Given the description of an element on the screen output the (x, y) to click on. 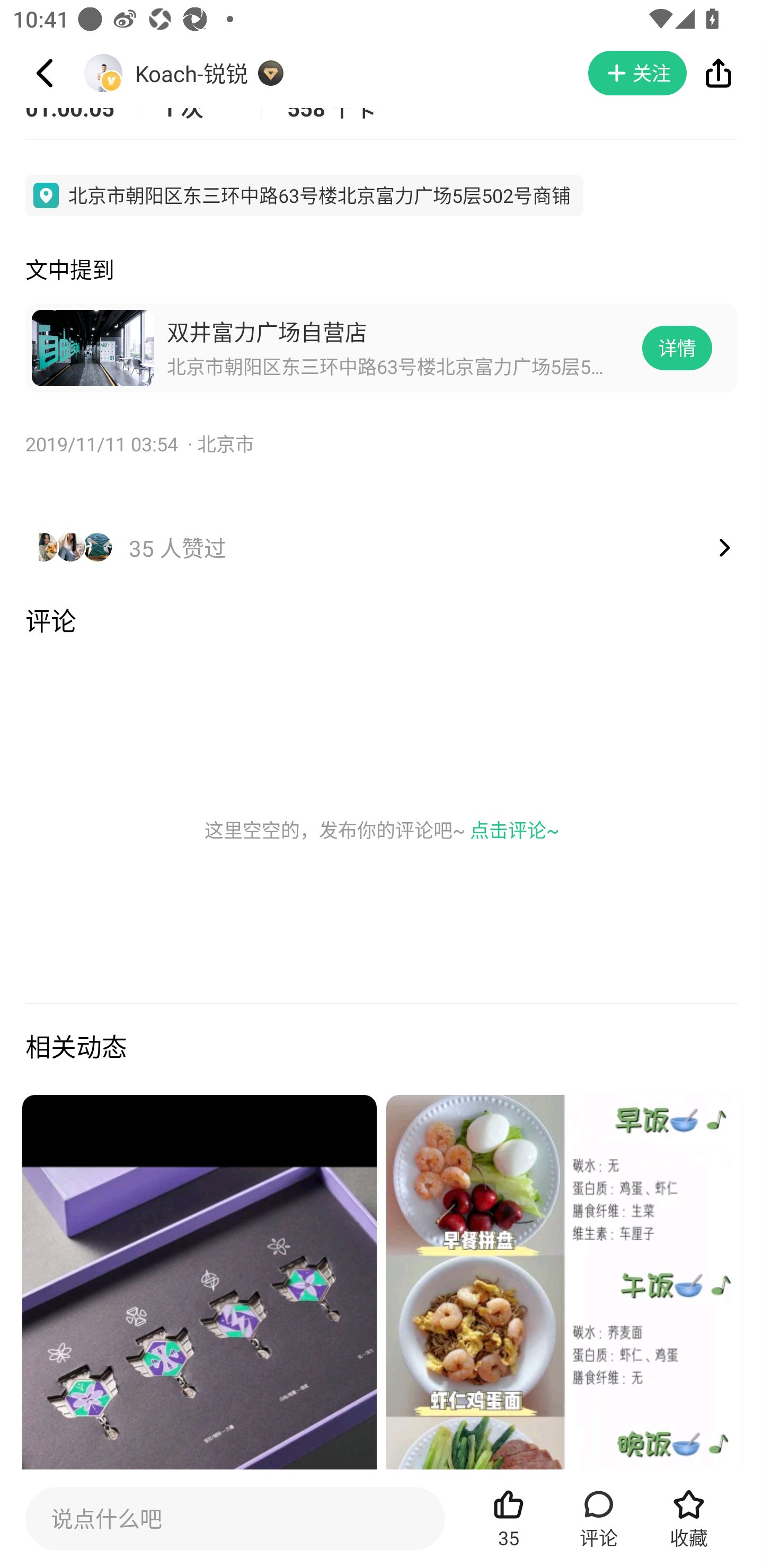
关注 (637, 72)
Koach-锐锐 (191, 72)
北京市朝阳区东三环中路63号楼北京富力广场5层502号商铺 (304, 195)
双井富力广场自营店 北京市朝阳区东三环中路63号楼北京富力广场5层502号商铺 详情 (381, 348)
35 人赞过 (381, 528)
这里空空的，发布你的评论吧~ 点击评论~ (381, 829)
35 (508, 1518)
评论 (598, 1518)
收藏 (688, 1518)
说点什么吧 (234, 1518)
